Given the description of an element on the screen output the (x, y) to click on. 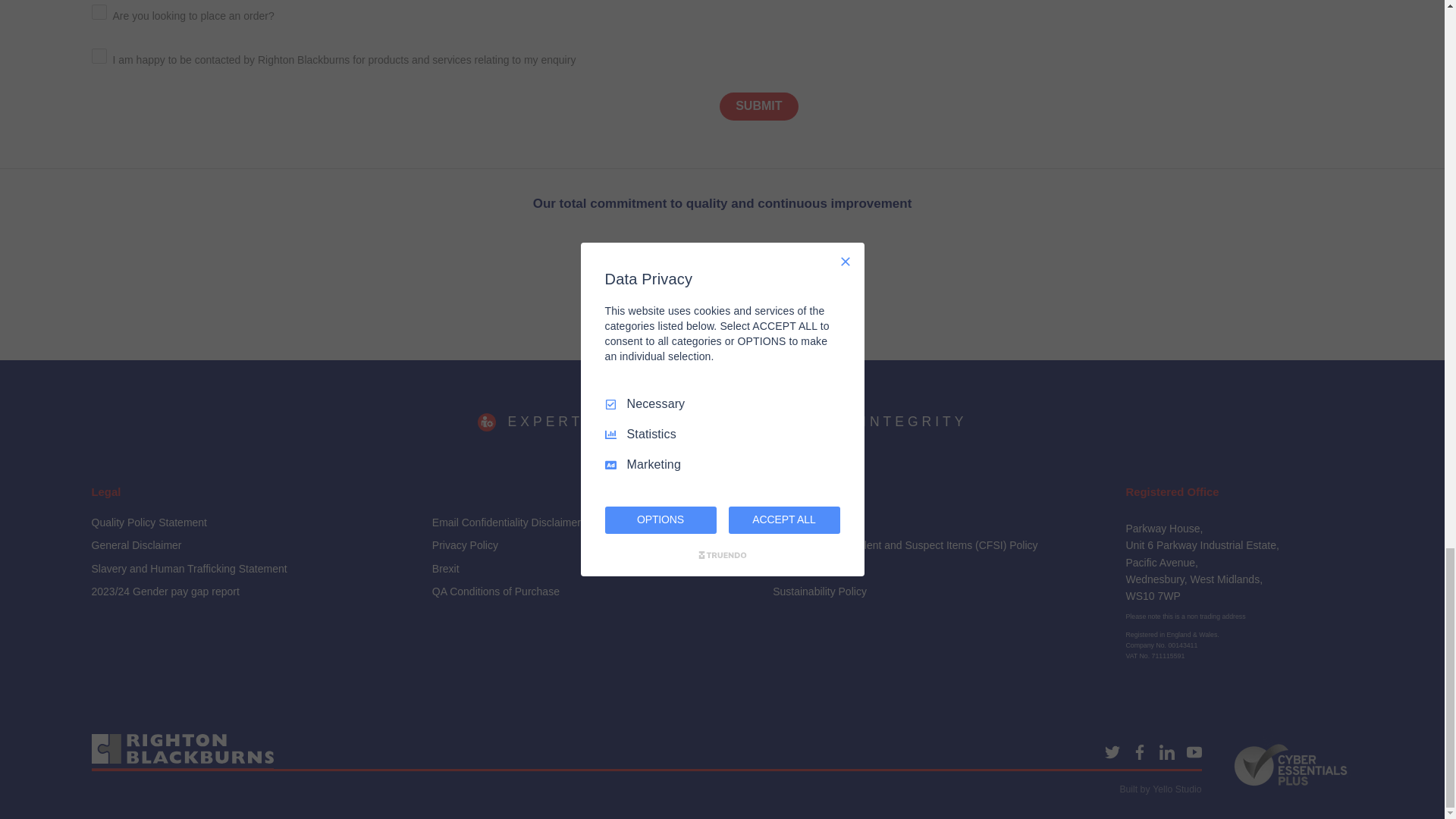
1 (98, 55)
Yes (98, 11)
